Given the description of an element on the screen output the (x, y) to click on. 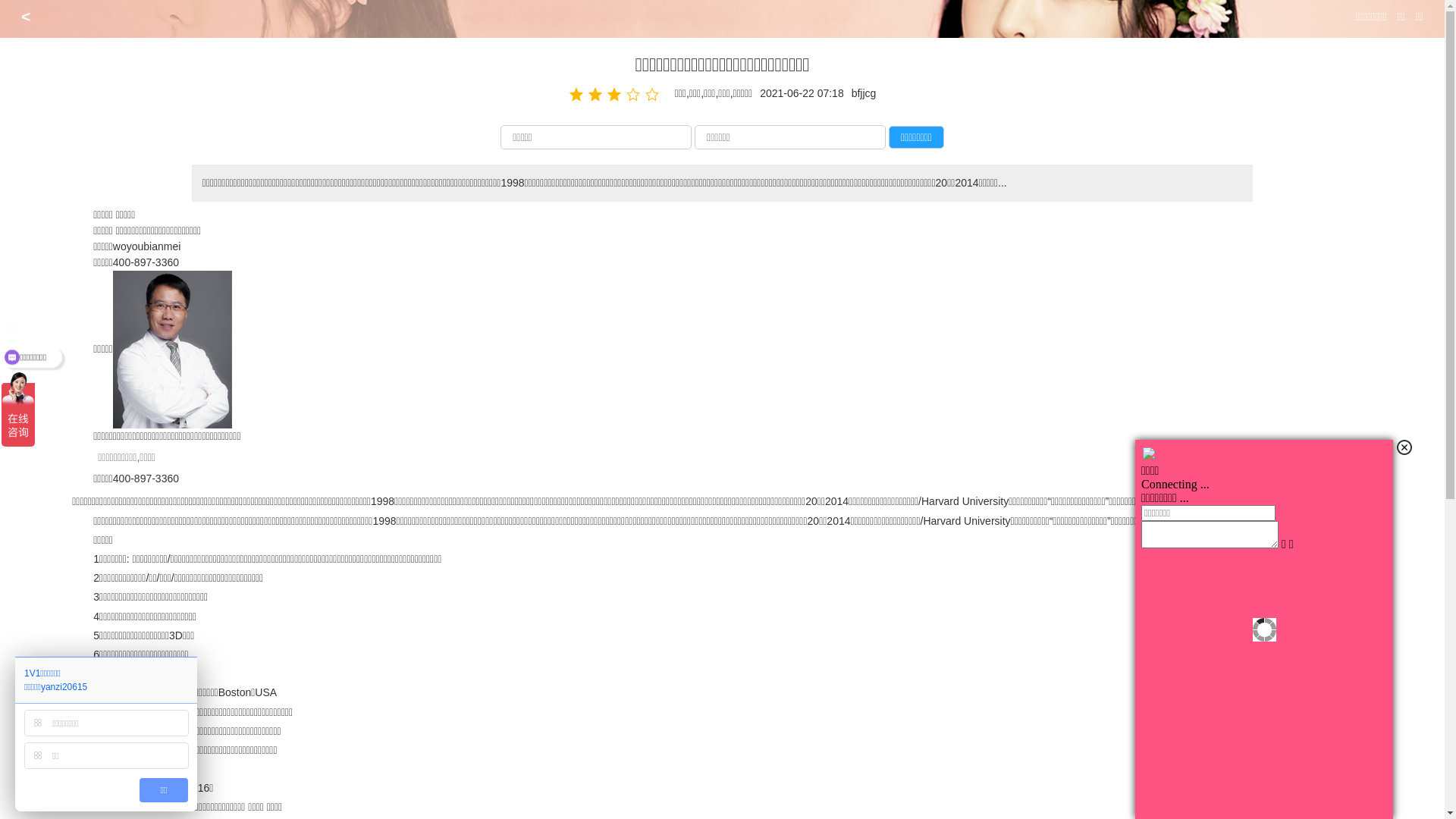
< Element type: text (25, 16)
400-897-3360 Element type: text (145, 262)
400-897-3360 Element type: text (145, 478)
